Given the description of an element on the screen output the (x, y) to click on. 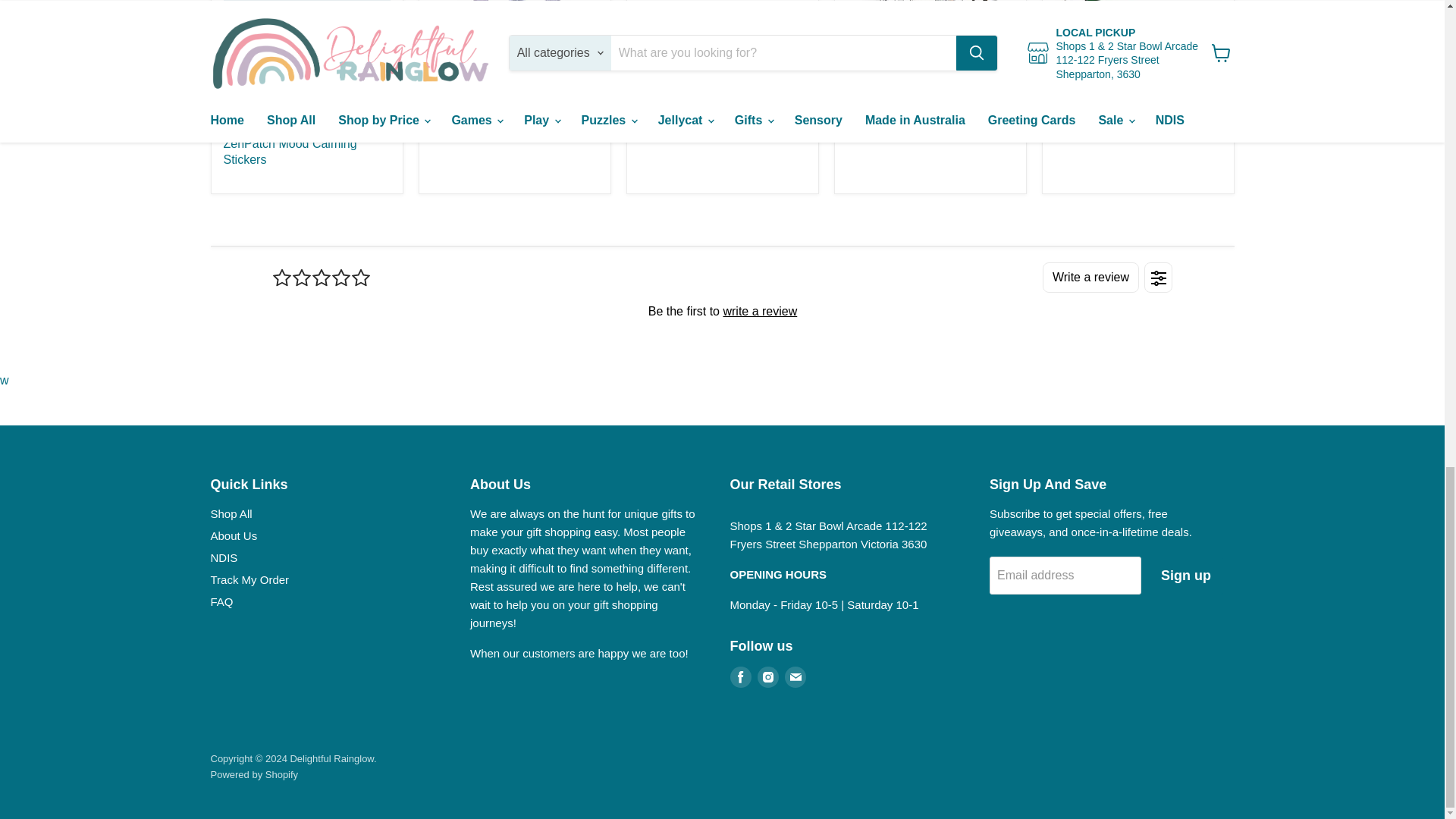
Instagram (767, 676)
Facebook (740, 676)
Product reviews widget (721, 310)
Email (794, 676)
